Given the description of an element on the screen output the (x, y) to click on. 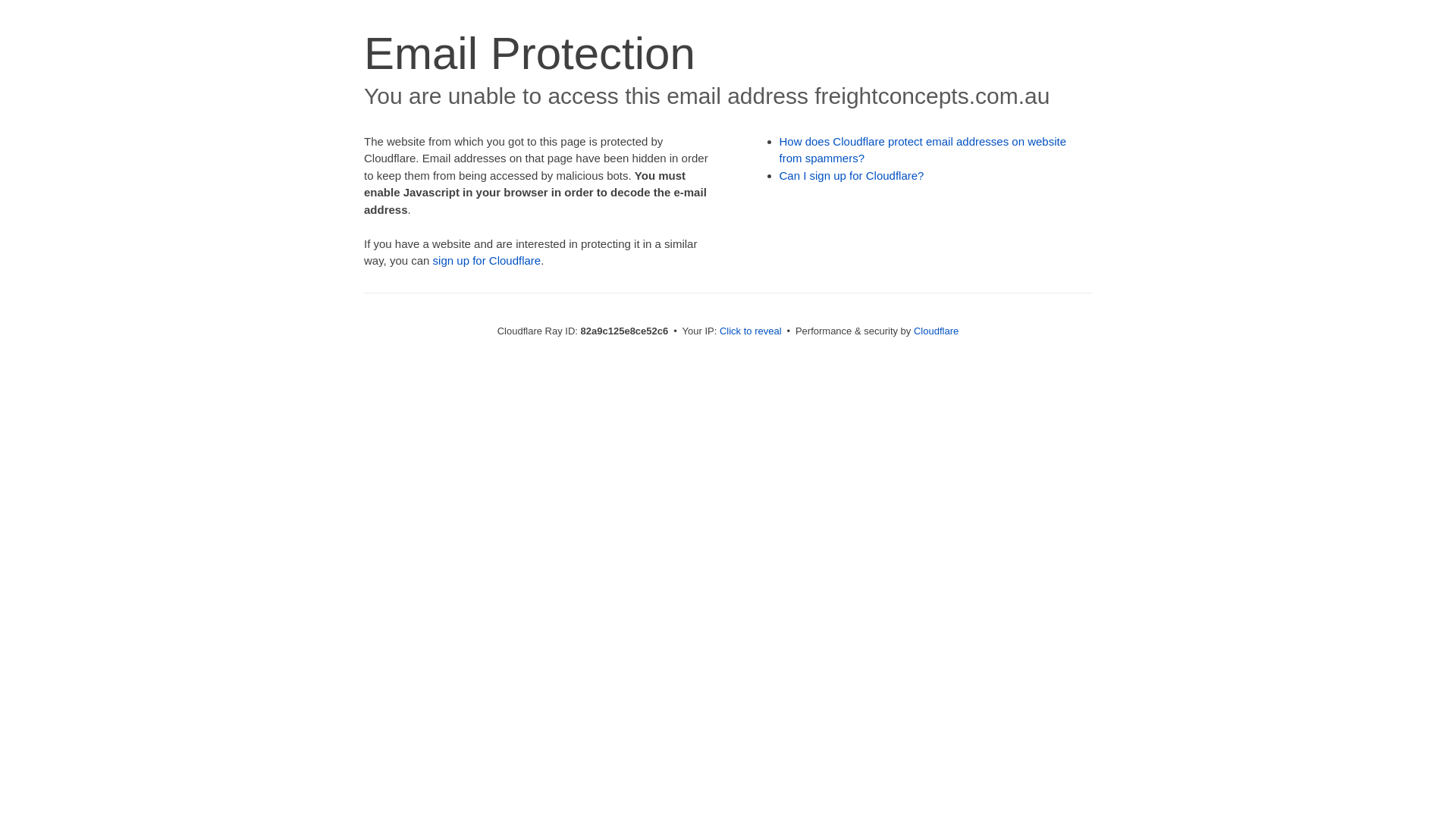
Cloudflare Element type: text (935, 330)
sign up for Cloudflare Element type: text (487, 260)
Can I sign up for Cloudflare? Element type: text (851, 175)
Click to reveal Element type: text (750, 330)
